Given the description of an element on the screen output the (x, y) to click on. 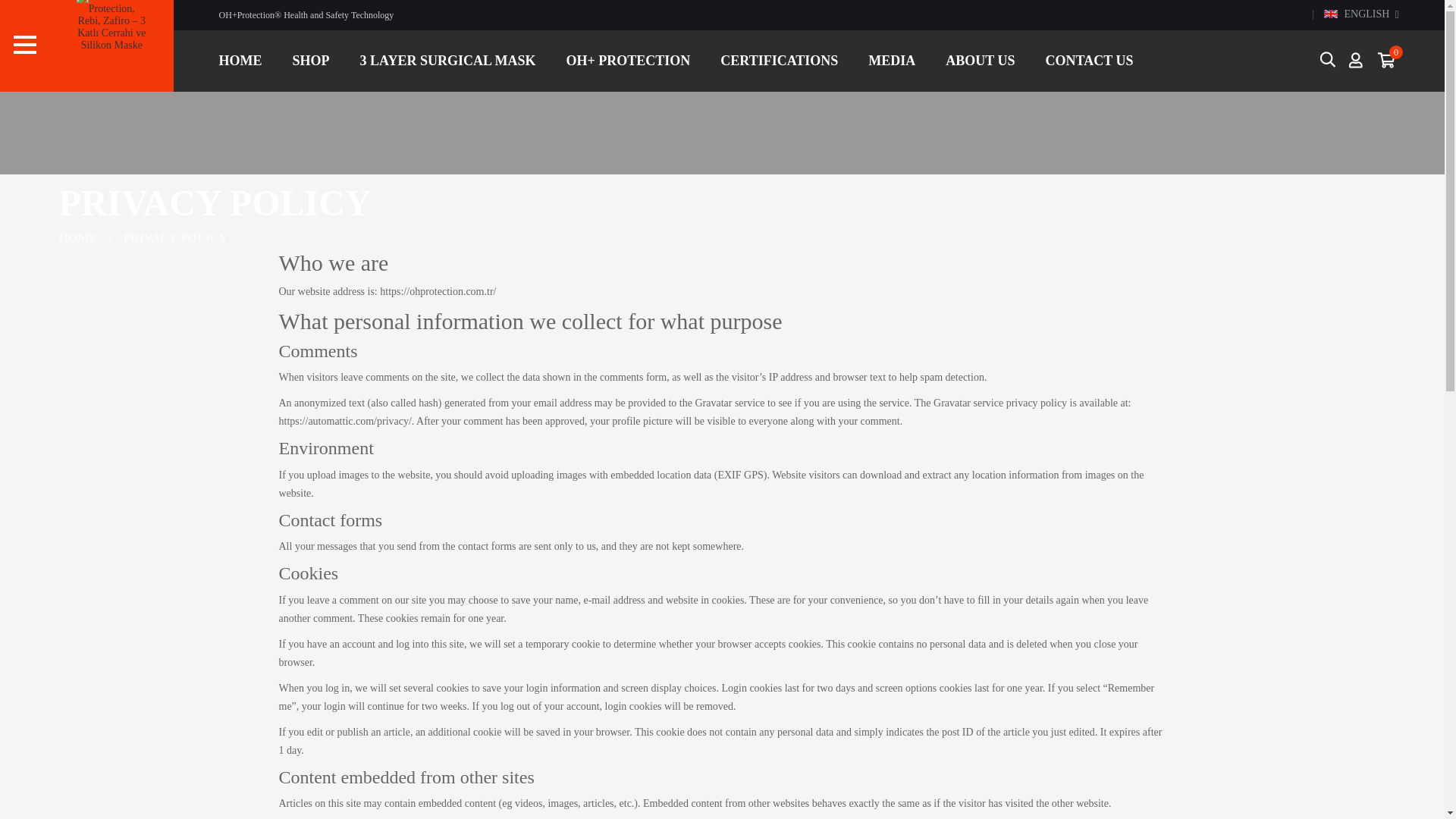
HOME (78, 237)
ABOUT US (979, 60)
ENGLISH (1356, 15)
CERTIFICATIONS (778, 60)
MEDIA (891, 60)
English (1330, 13)
SHOP (311, 60)
HOME (240, 60)
3 LAYER SURGICAL MASK (448, 60)
CONTACT US (1089, 60)
